Given the description of an element on the screen output the (x, y) to click on. 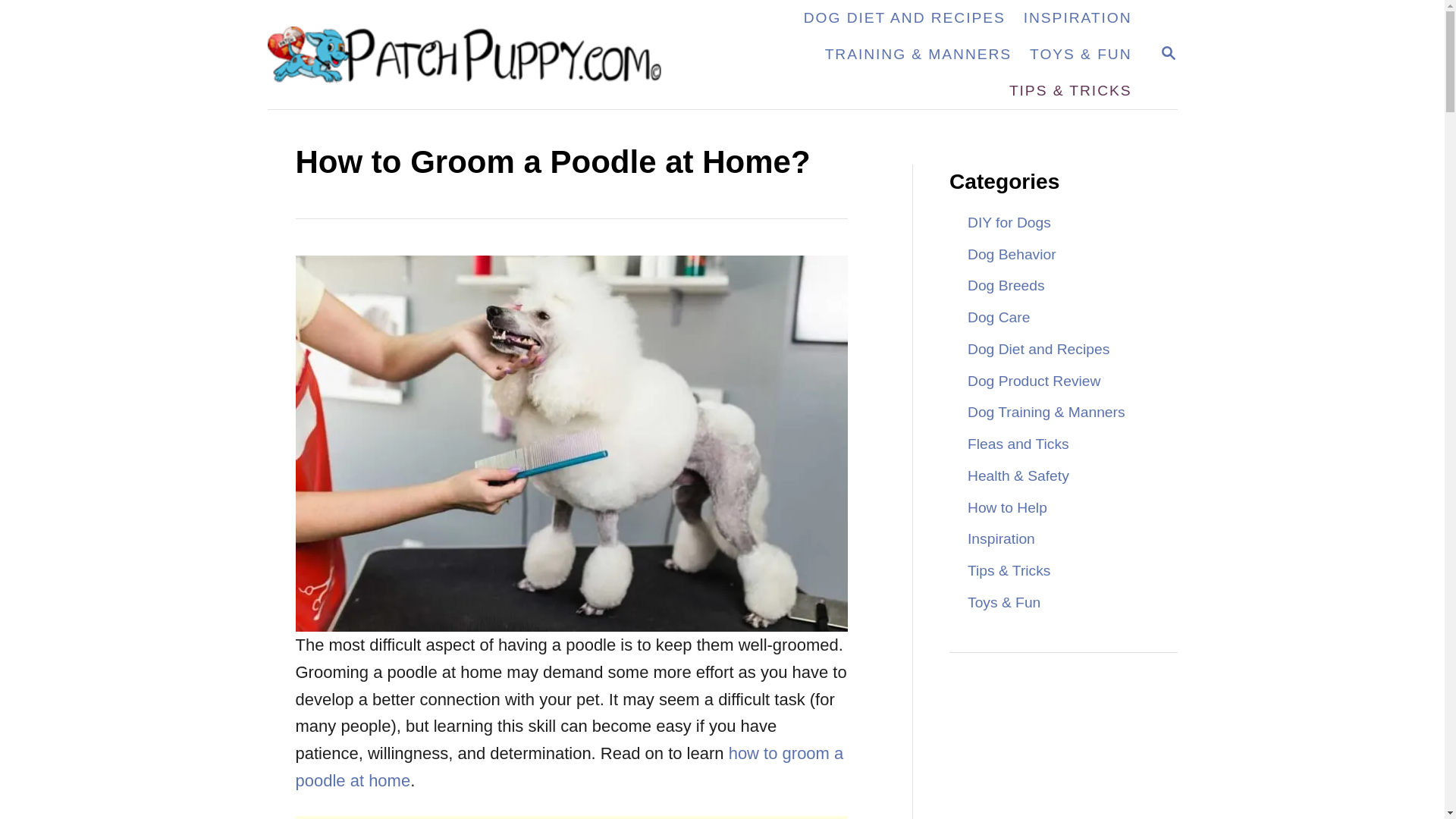
Dog Breeds (1167, 54)
Dog Diet and Recipes (1005, 285)
DOG DIET AND RECIPES (1037, 349)
how to groom a poodle at home (904, 18)
MAGNIFYING GLASS (569, 766)
Dog Product Review (1167, 53)
Dog Behavior (1033, 380)
INSPIRATION (1011, 254)
DIY for Dogs (1077, 18)
